Given the description of an element on the screen output the (x, y) to click on. 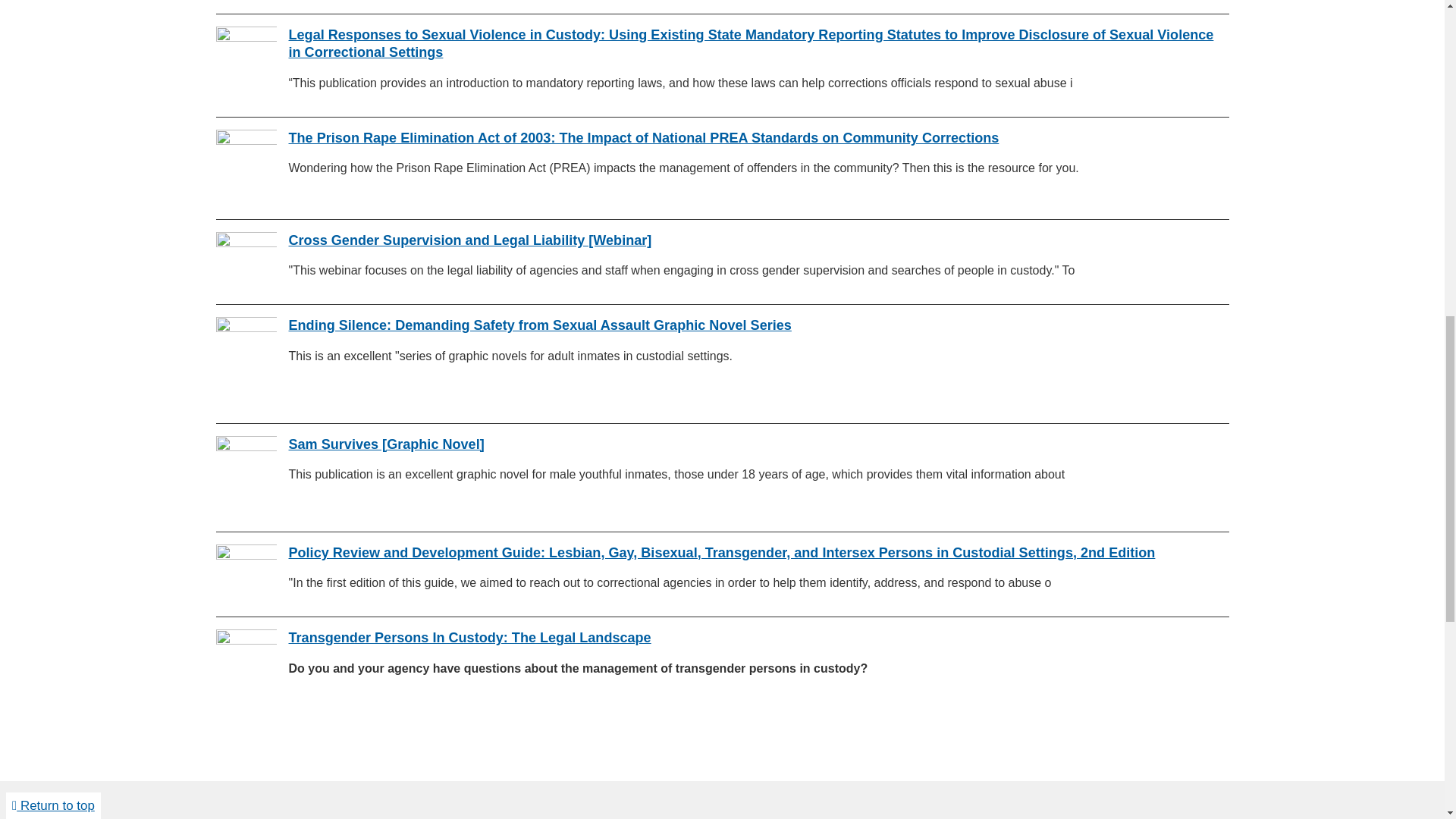
Transgender Persons In Custody: The Legal Landscape (469, 637)
